Given the description of an element on the screen output the (x, y) to click on. 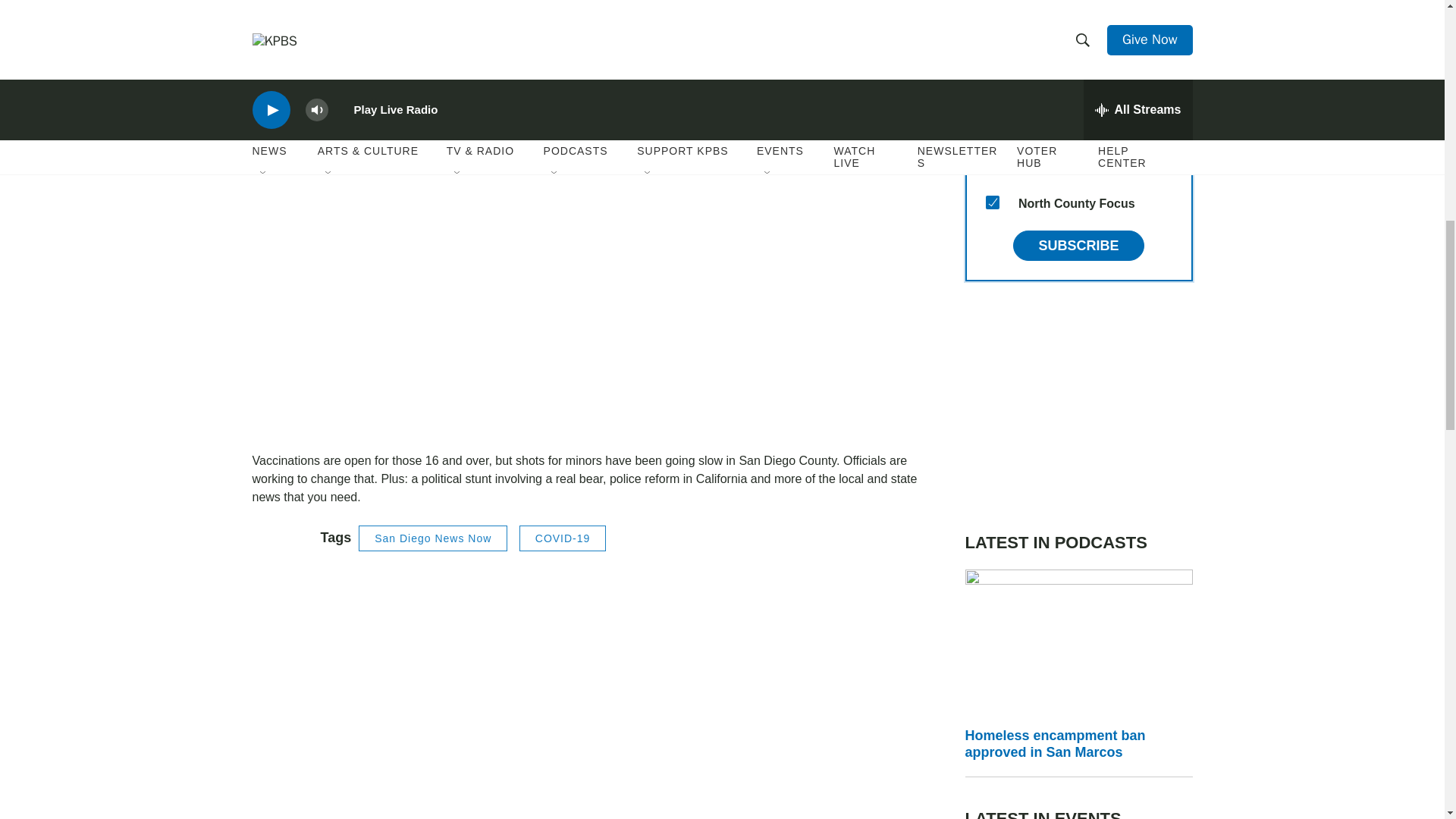
8 (991, 165)
5 (991, 20)
6 (991, 56)
2 (991, 92)
1 (991, 129)
15 (991, 202)
